Given the description of an element on the screen output the (x, y) to click on. 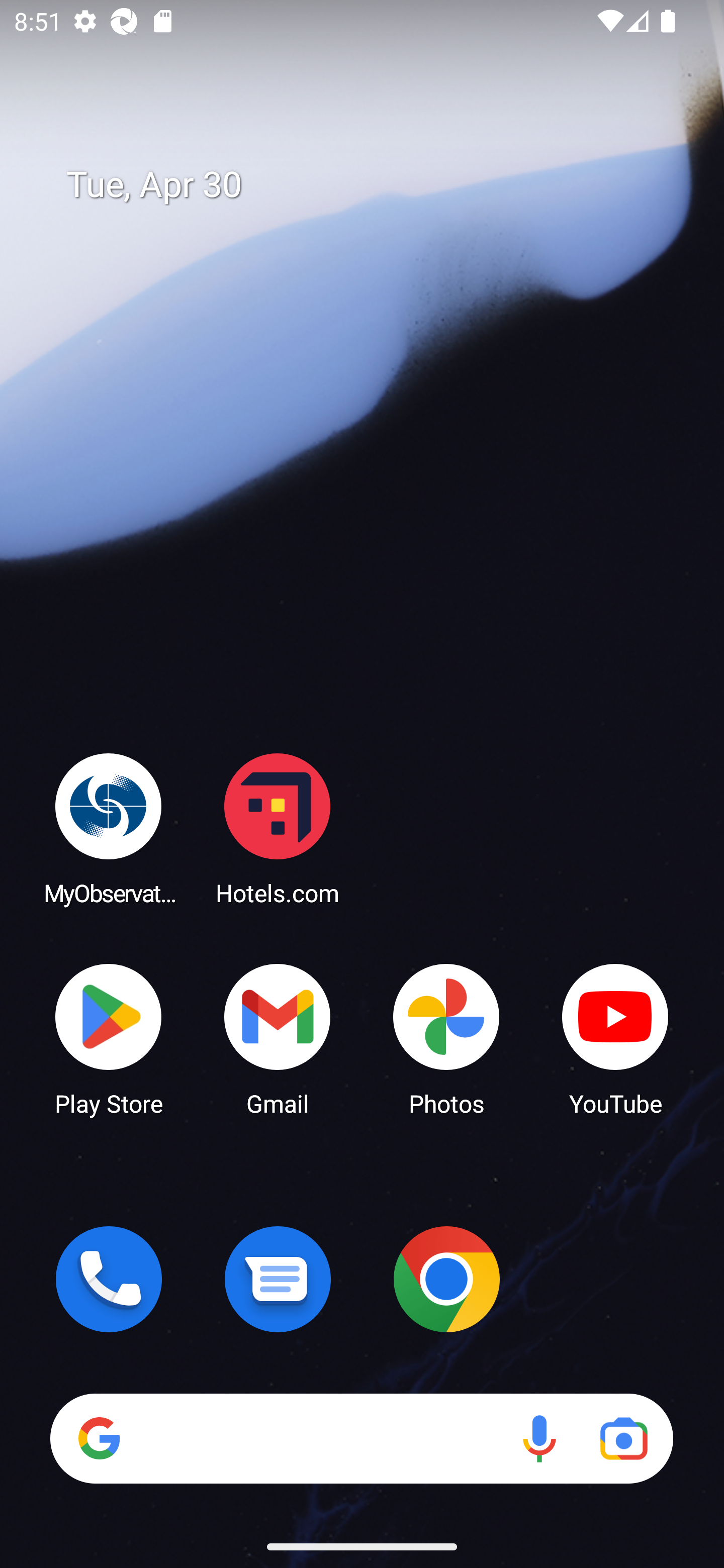
Tue, Apr 30 (375, 184)
MyObservatory (108, 828)
Hotels.com (277, 828)
Play Store (108, 1038)
Gmail (277, 1038)
Photos (445, 1038)
YouTube (615, 1038)
Phone (108, 1279)
Messages (277, 1279)
Chrome (446, 1279)
Voice search (539, 1438)
Google Lens (623, 1438)
